Given the description of an element on the screen output the (x, y) to click on. 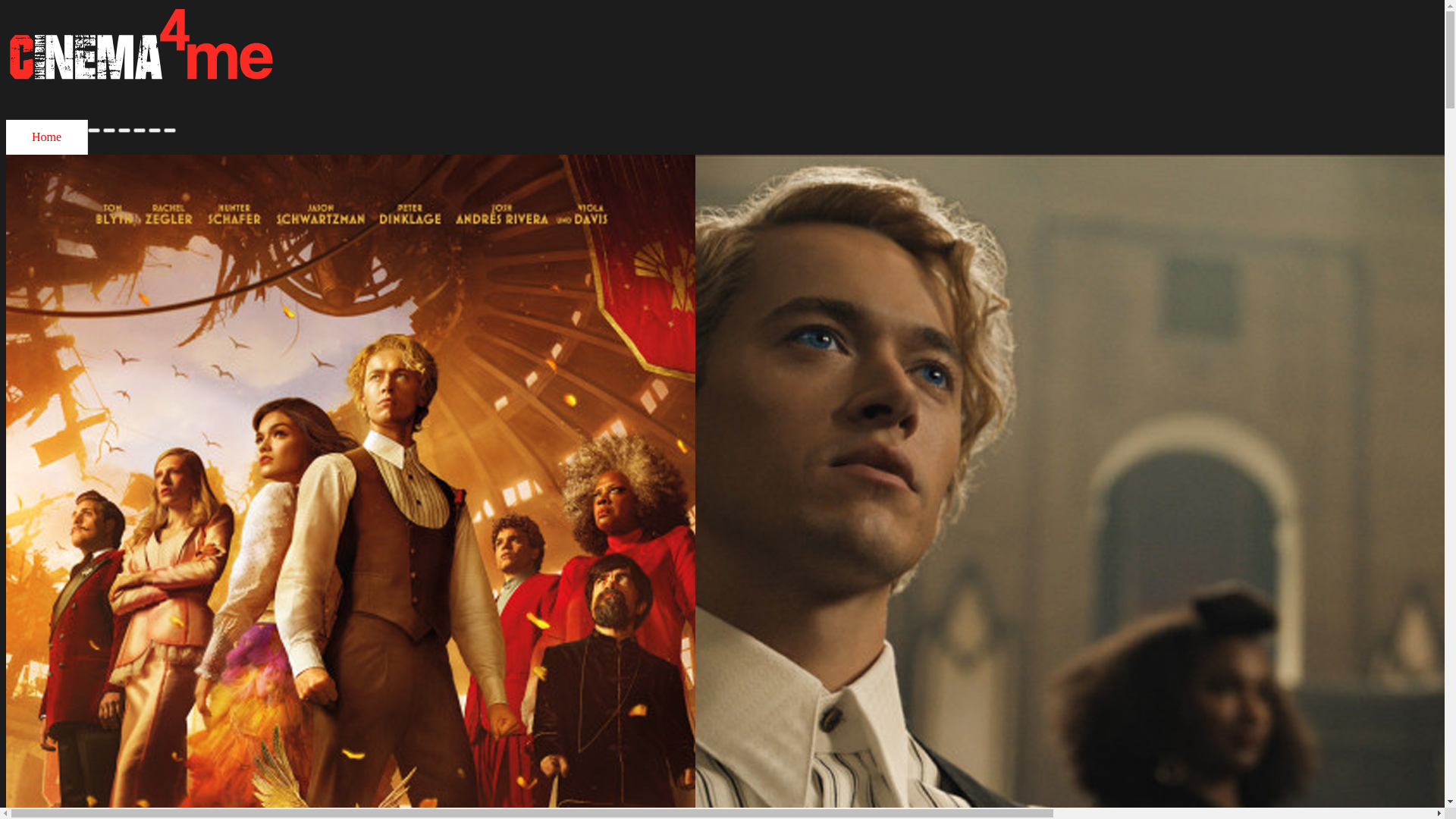
Home Element type: text (46, 136)
